Given the description of an element on the screen output the (x, y) to click on. 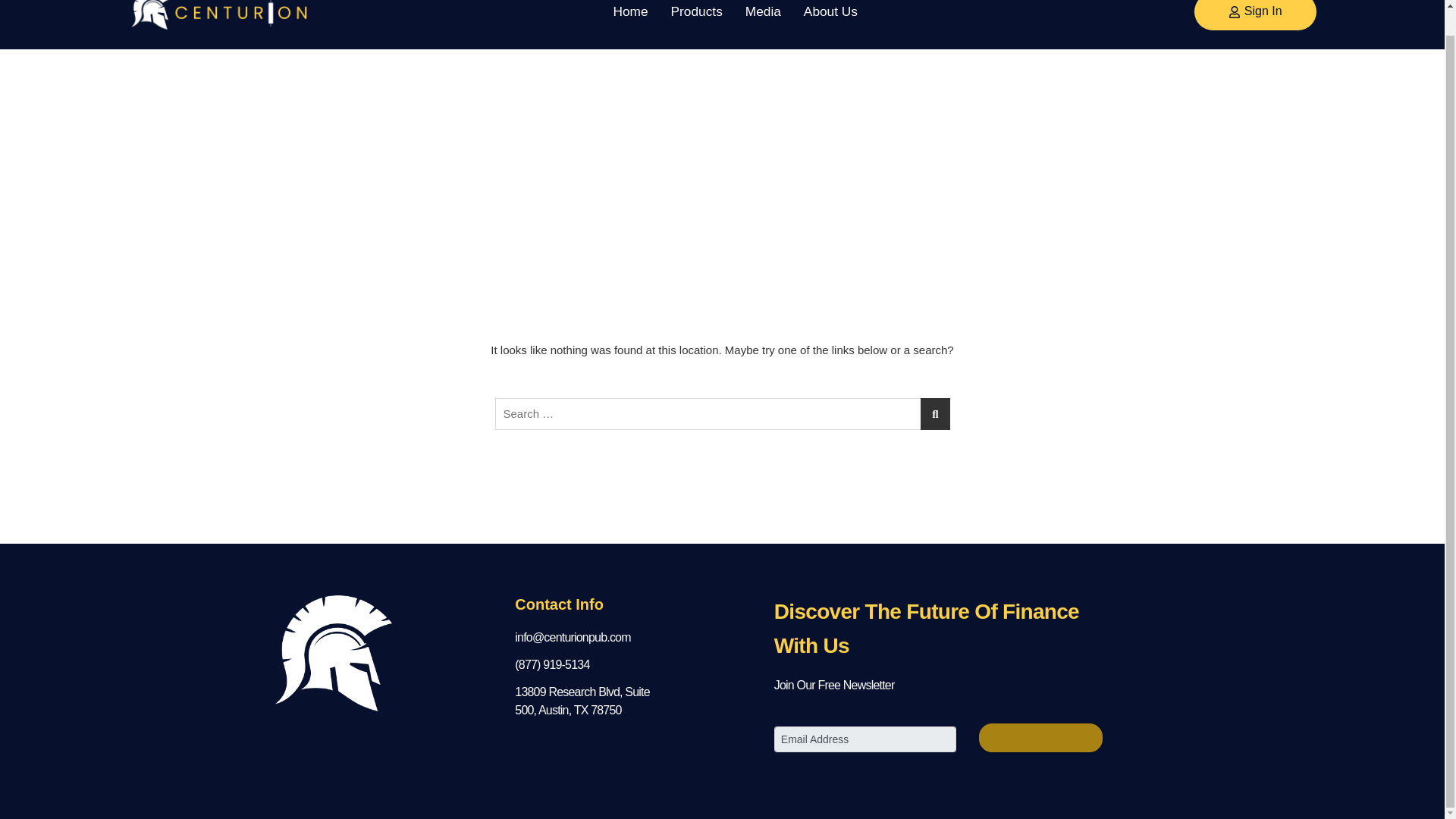
Email Address (865, 739)
Home (629, 11)
Subscribe (1040, 737)
About Us (830, 11)
Products (696, 11)
Media (762, 11)
Sign In (1255, 15)
